Given the description of an element on the screen output the (x, y) to click on. 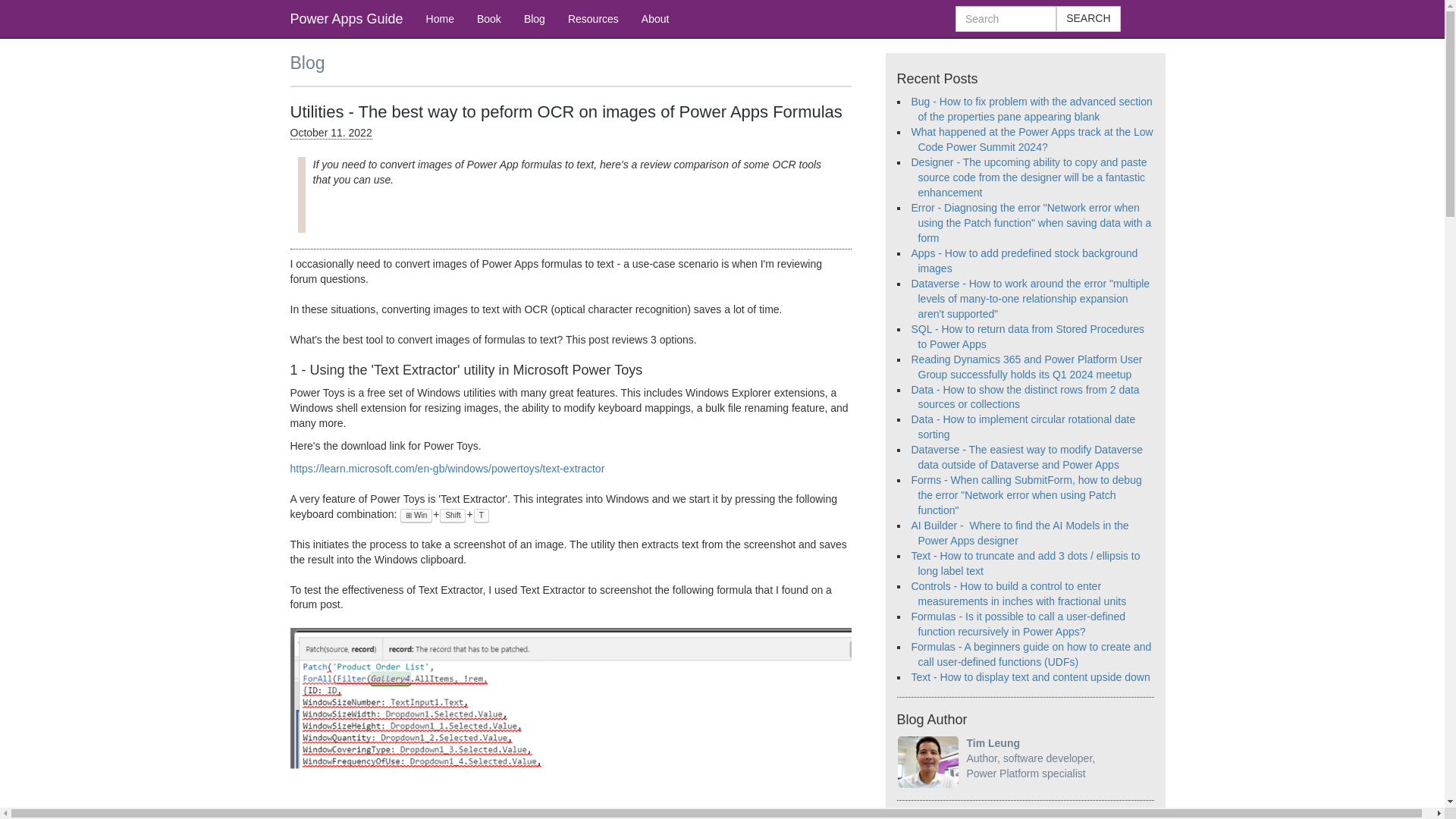
SEARCH (1088, 18)
Blog (534, 18)
Resources (593, 18)
Book (488, 18)
Power Apps Guide (346, 18)
About (655, 18)
Apps - How to add predefined stock background images (1024, 260)
